Given the description of an element on the screen output the (x, y) to click on. 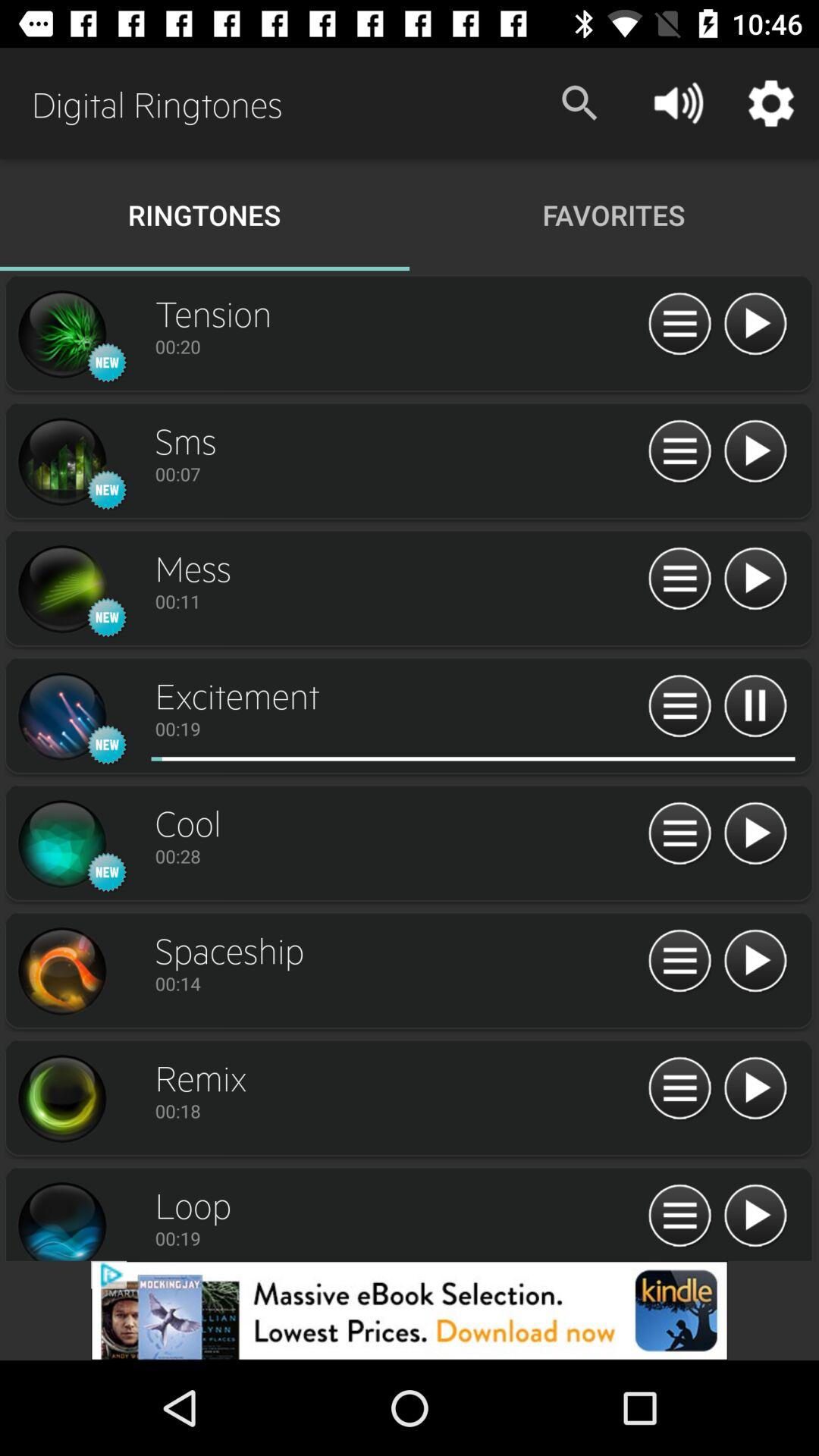
play ringtone (755, 1216)
